Given the description of an element on the screen output the (x, y) to click on. 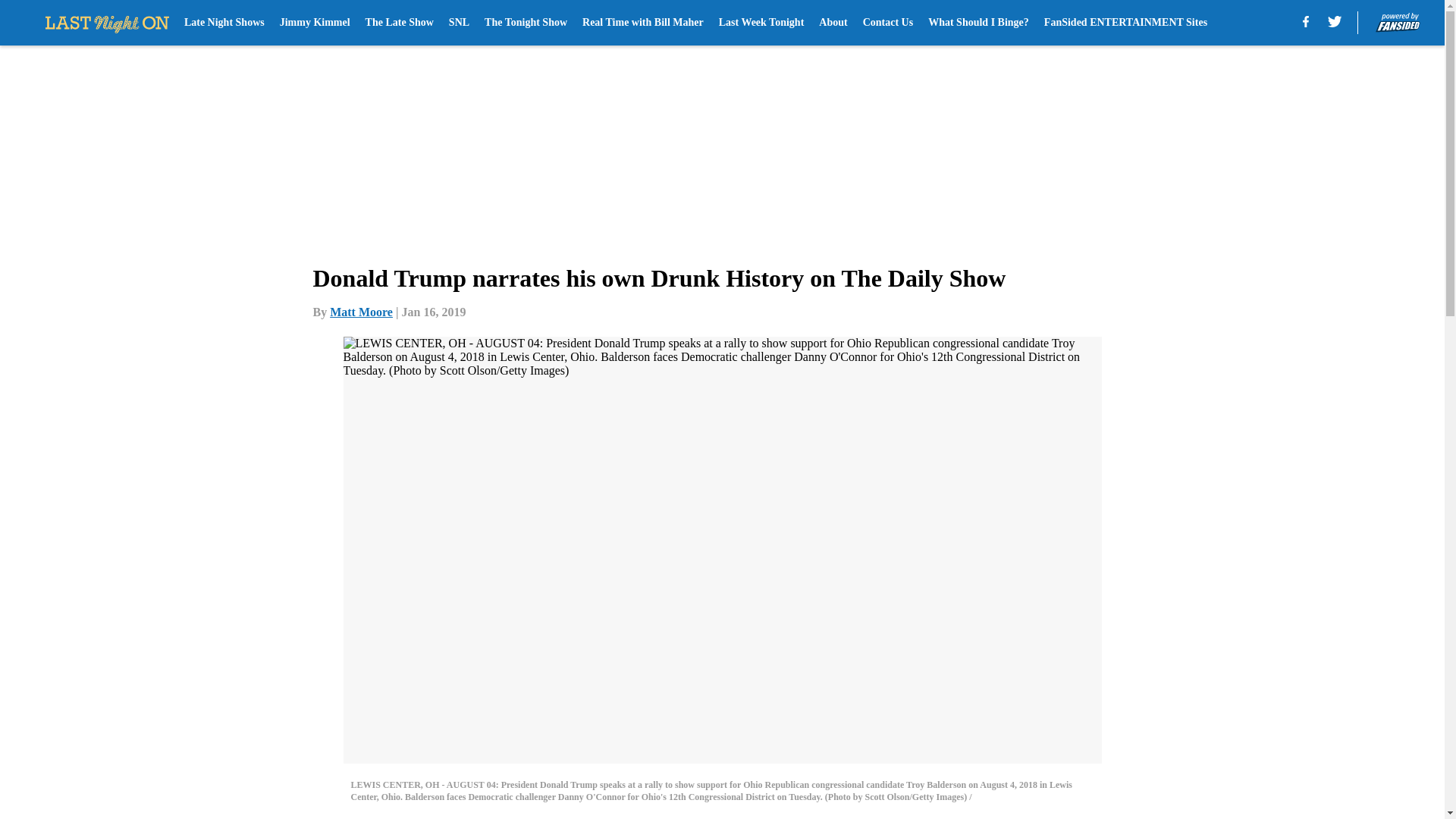
Jimmy Kimmel (314, 22)
The Tonight Show (525, 22)
Real Time with Bill Maher (642, 22)
Contact Us (888, 22)
Matt Moore (361, 311)
The Late Show (399, 22)
Late Night Shows (224, 22)
What Should I Binge? (978, 22)
Last Week Tonight (762, 22)
About (832, 22)
